Given the description of an element on the screen output the (x, y) to click on. 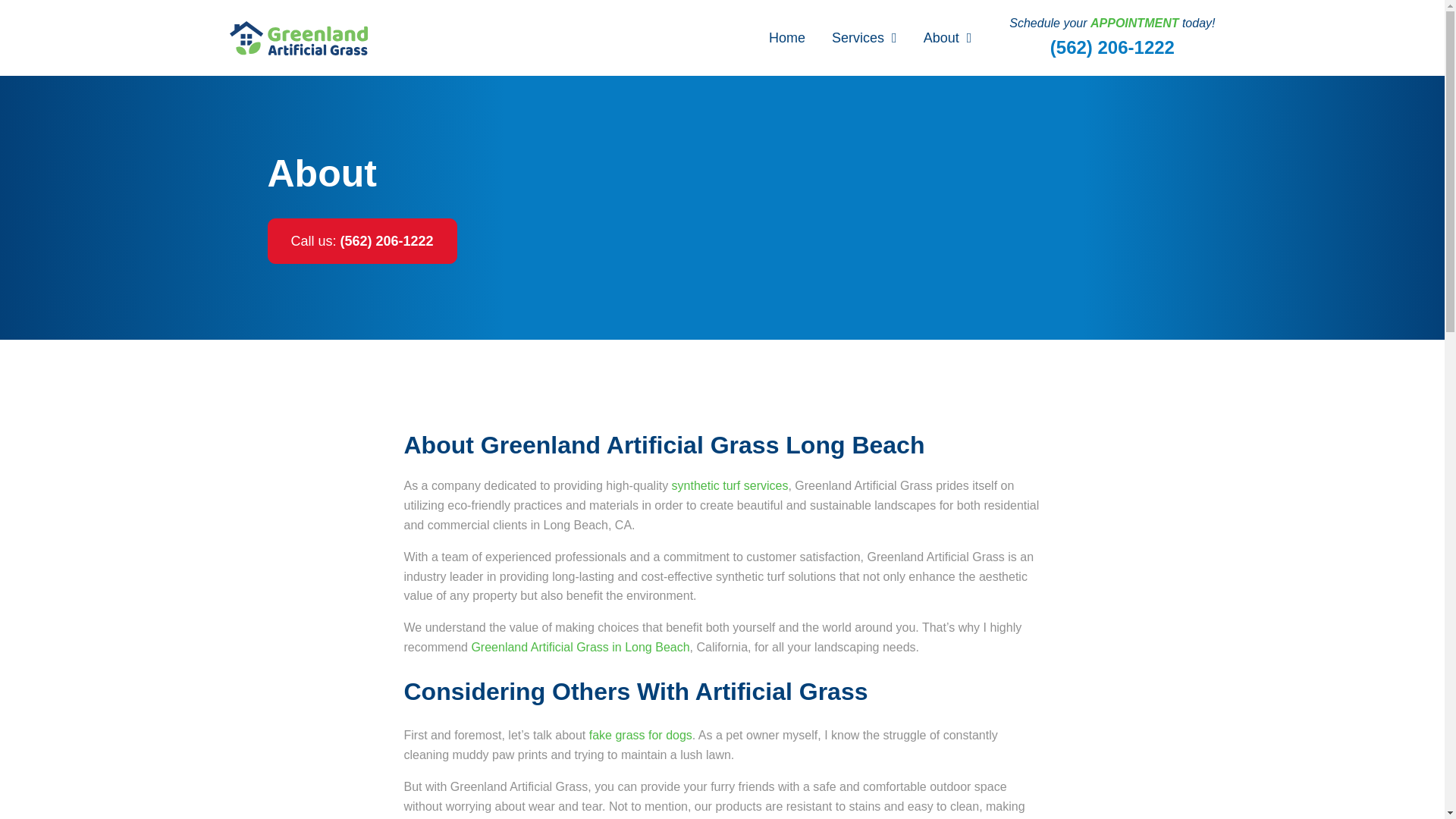
Greenland Artificial Grass in Long Beach (579, 646)
fake grass for dogs (641, 735)
synthetic turf services (730, 485)
